Given the description of an element on the screen output the (x, y) to click on. 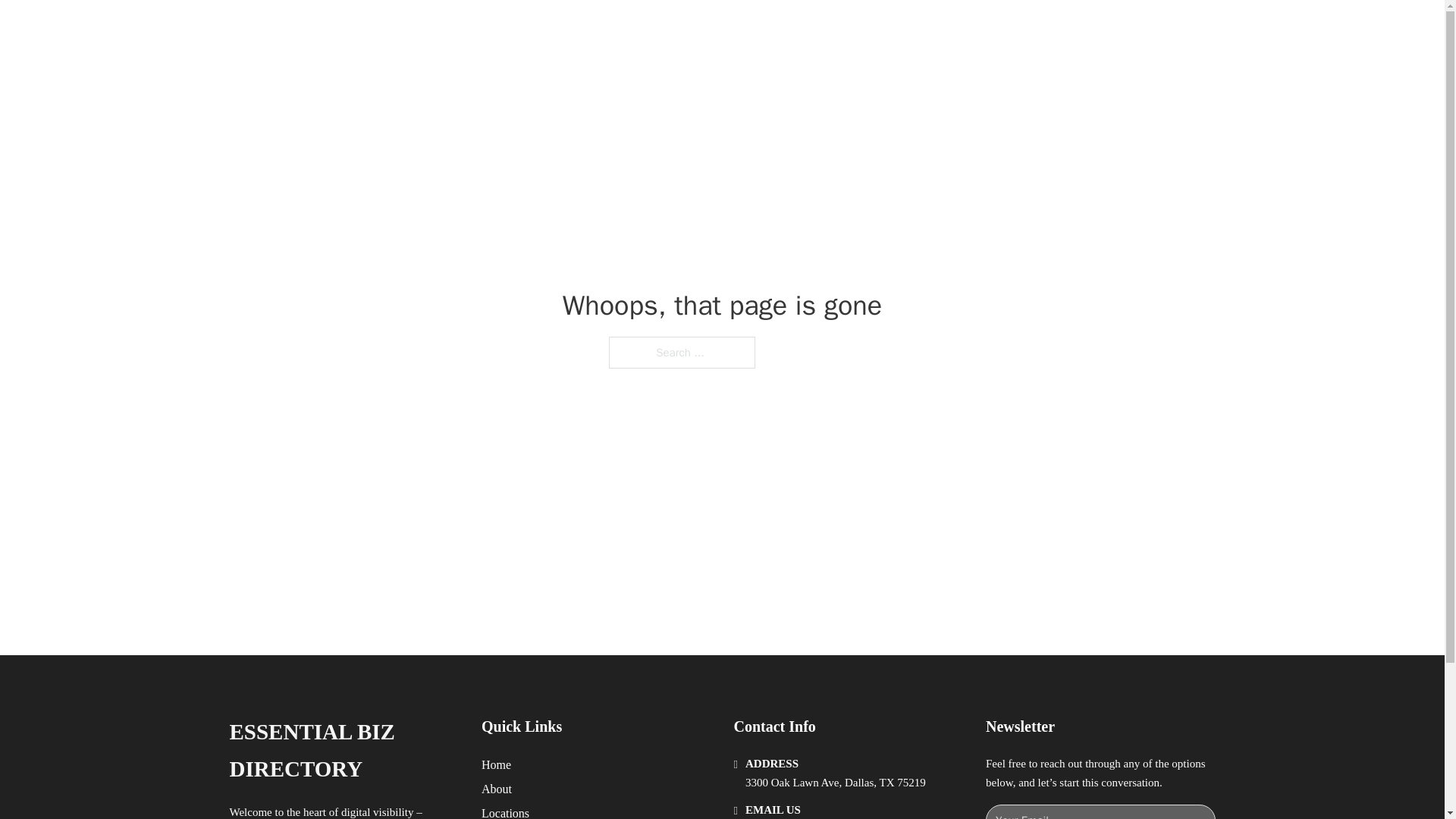
Locations (505, 811)
About (496, 788)
LOCATIONS (990, 29)
ESSENTIAL BIZ DIRECTORY (343, 750)
Home (496, 764)
HOME (919, 29)
